Given the description of an element on the screen output the (x, y) to click on. 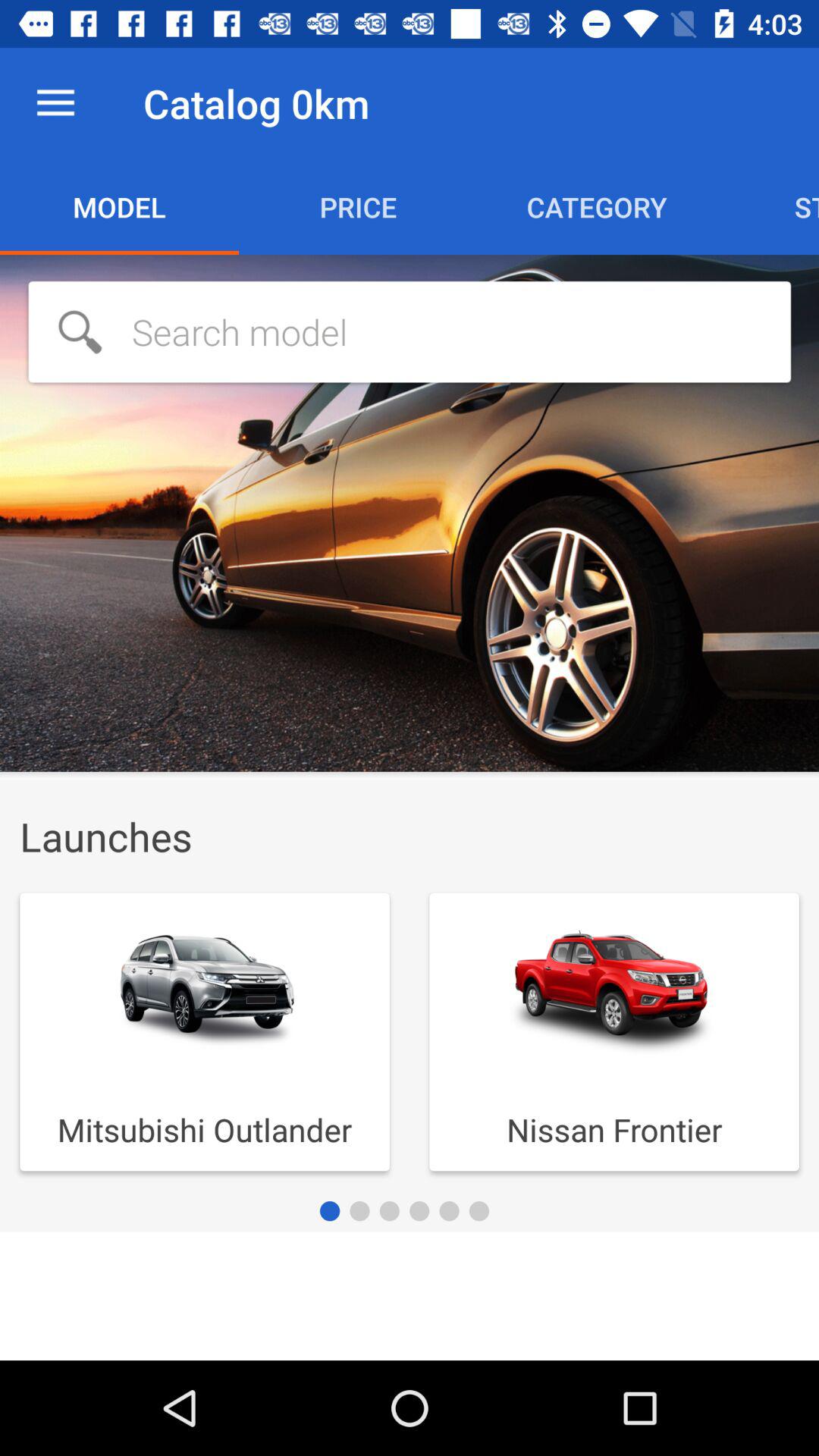
select search input box (409, 331)
